Given the description of an element on the screen output the (x, y) to click on. 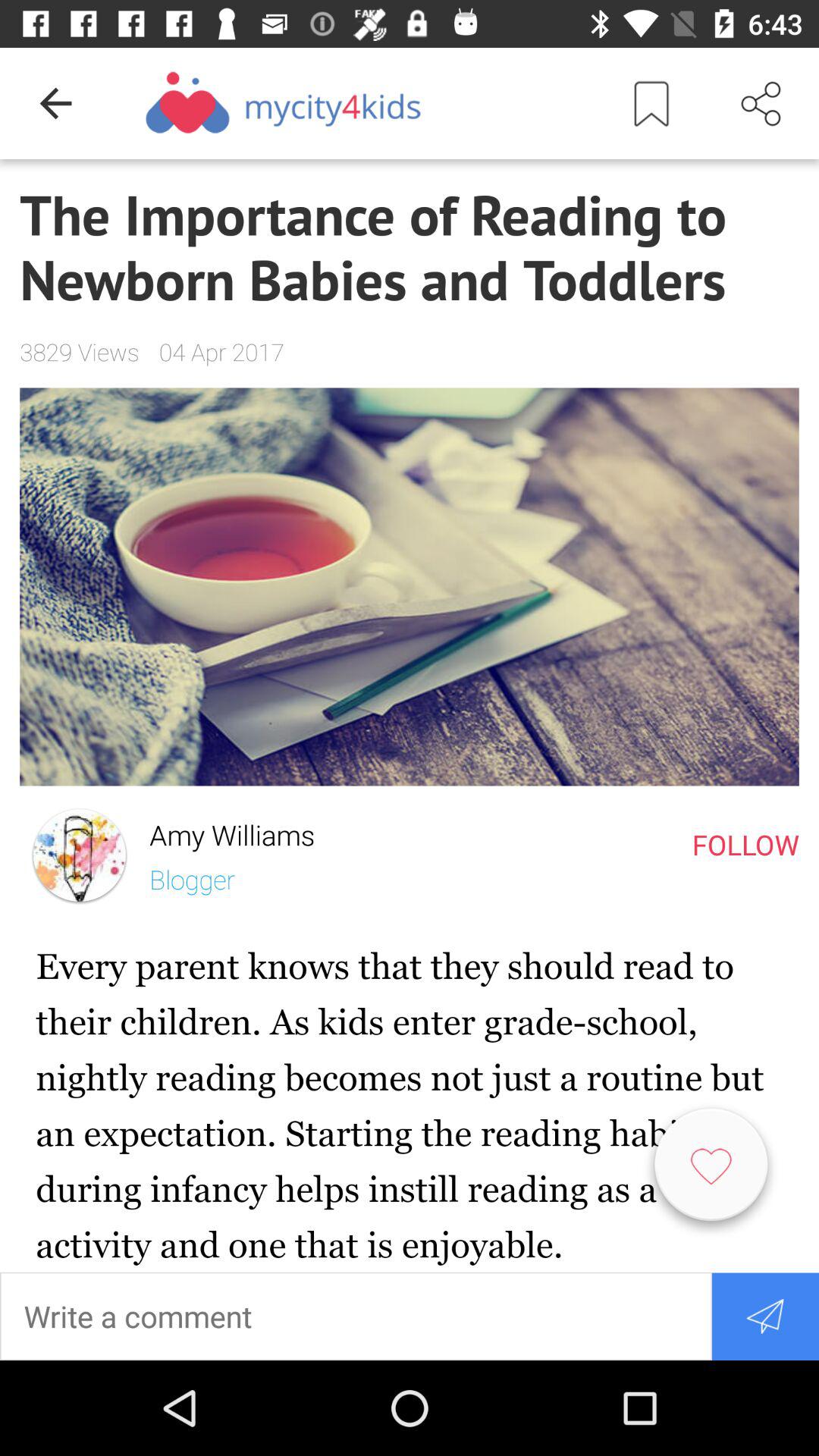
swipe to the amy williams item (222, 831)
